Given the description of an element on the screen output the (x, y) to click on. 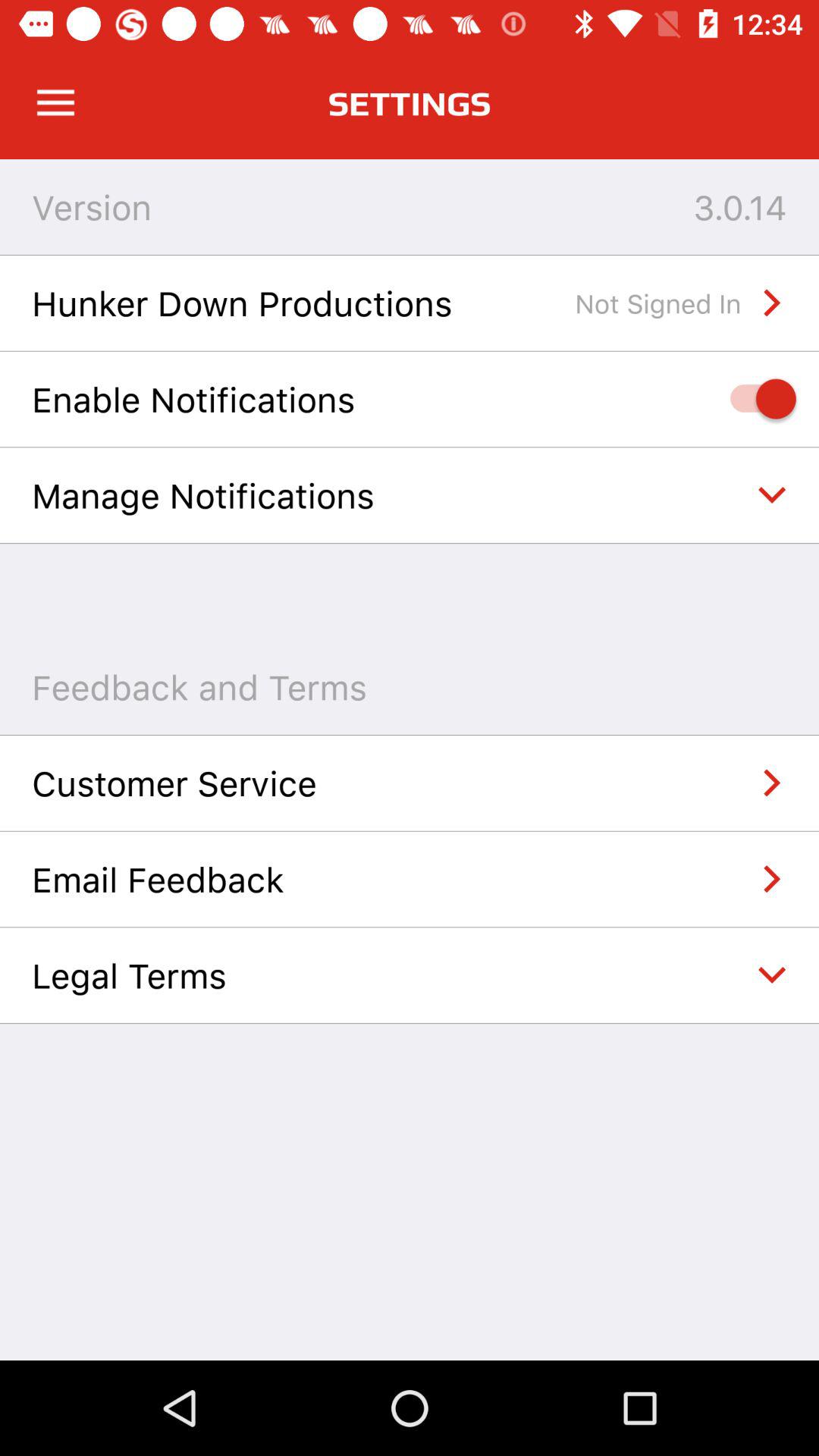
select the icon above the manage notifications icon (755, 398)
